Given the description of an element on the screen output the (x, y) to click on. 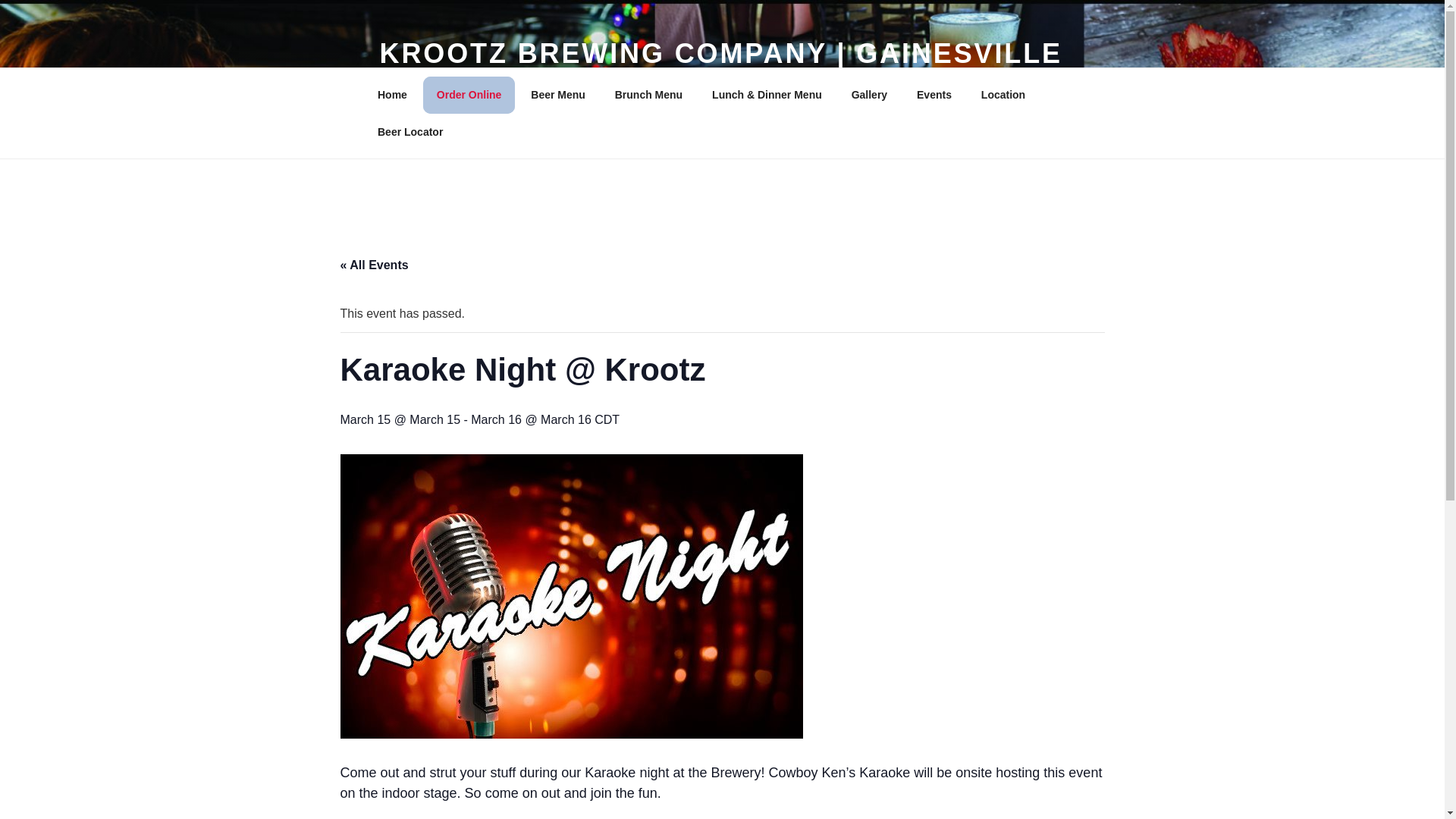
Beer Menu (558, 94)
Events (934, 94)
Beer Locator (409, 131)
Gallery (868, 94)
Home (392, 94)
Brunch Menu (648, 94)
Location (1003, 94)
Order Online and Delivery (469, 94)
Order Online (469, 94)
